Given the description of an element on the screen output the (x, y) to click on. 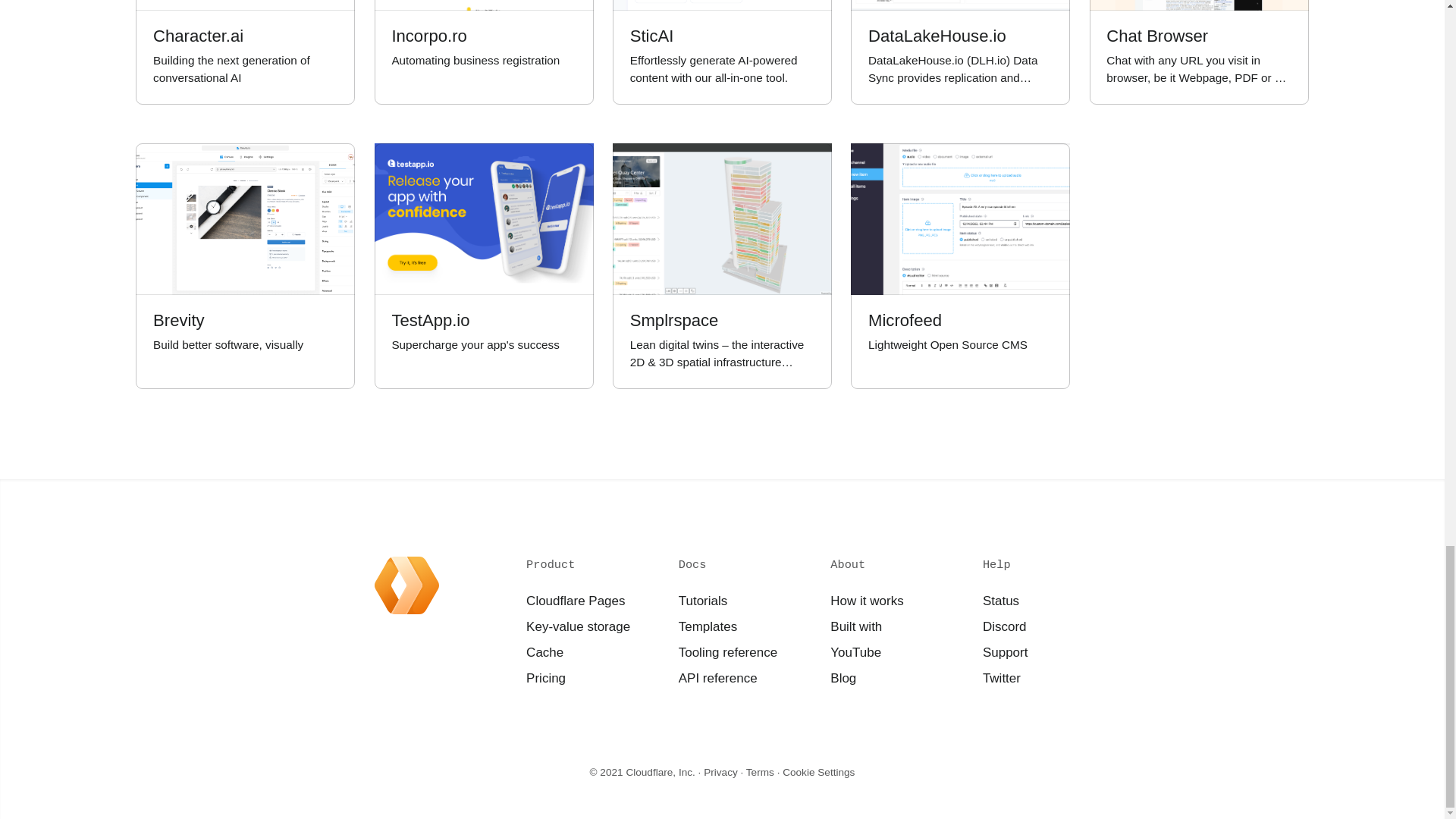
Tooling reference (727, 651)
How it works (867, 600)
Blog (843, 677)
Twitter (1000, 677)
Cloudflare Pages (575, 600)
Discord (1003, 625)
Status (1000, 600)
API reference (716, 677)
Cache (544, 651)
Templates (960, 266)
Terms (706, 625)
Built with (759, 772)
